Given the description of an element on the screen output the (x, y) to click on. 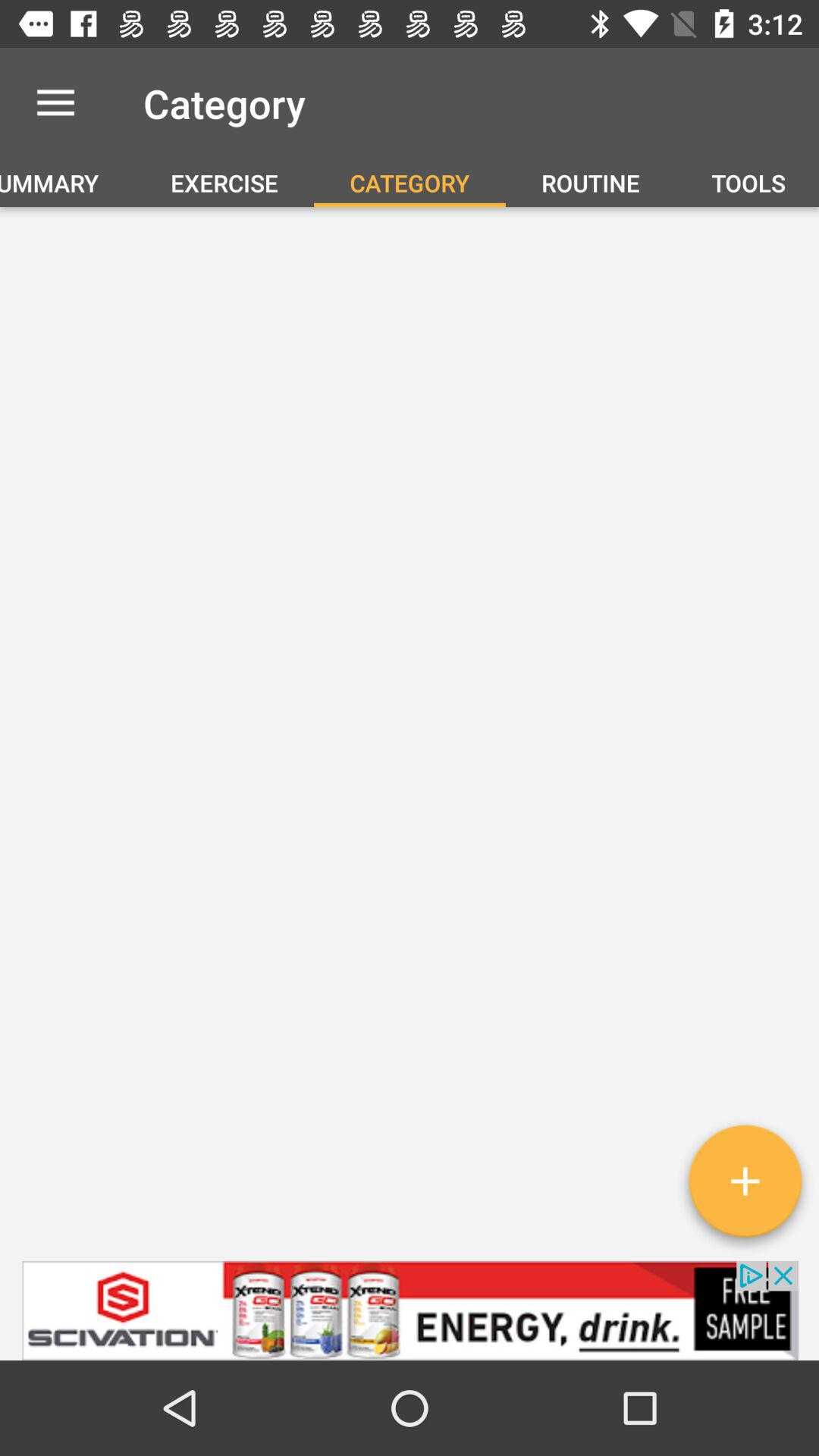
add option (745, 1186)
